Given the description of an element on the screen output the (x, y) to click on. 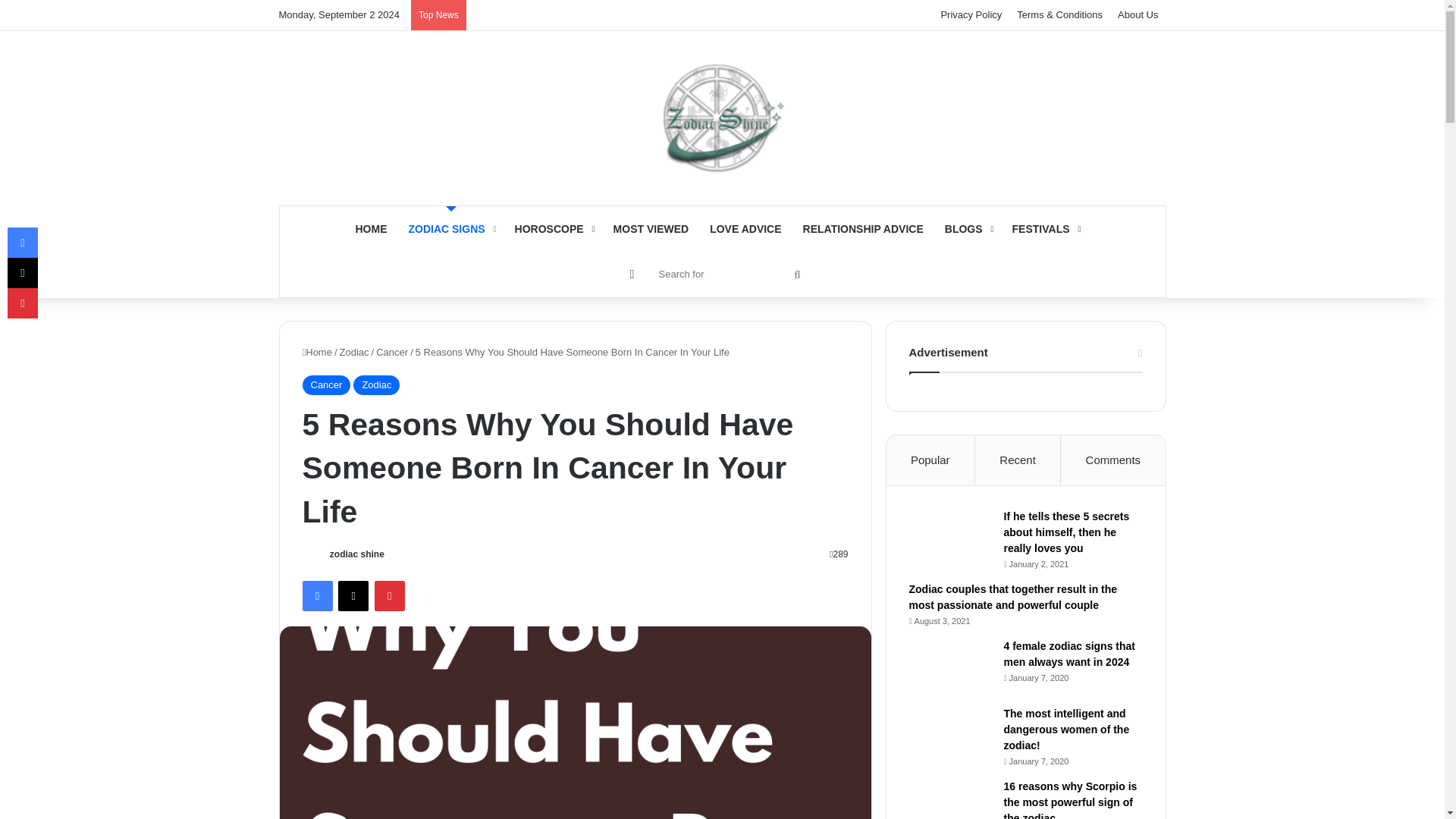
ZODIAC SIGNS (450, 228)
RELATIONSHIP ADVICE (863, 228)
Search for (727, 273)
HOROSCOPE (552, 228)
About Us (1137, 15)
Zodiac Shine (722, 118)
HOME (370, 228)
MOST VIEWED (651, 228)
BLOGS (967, 228)
LOVE ADVICE (745, 228)
